Given the description of an element on the screen output the (x, y) to click on. 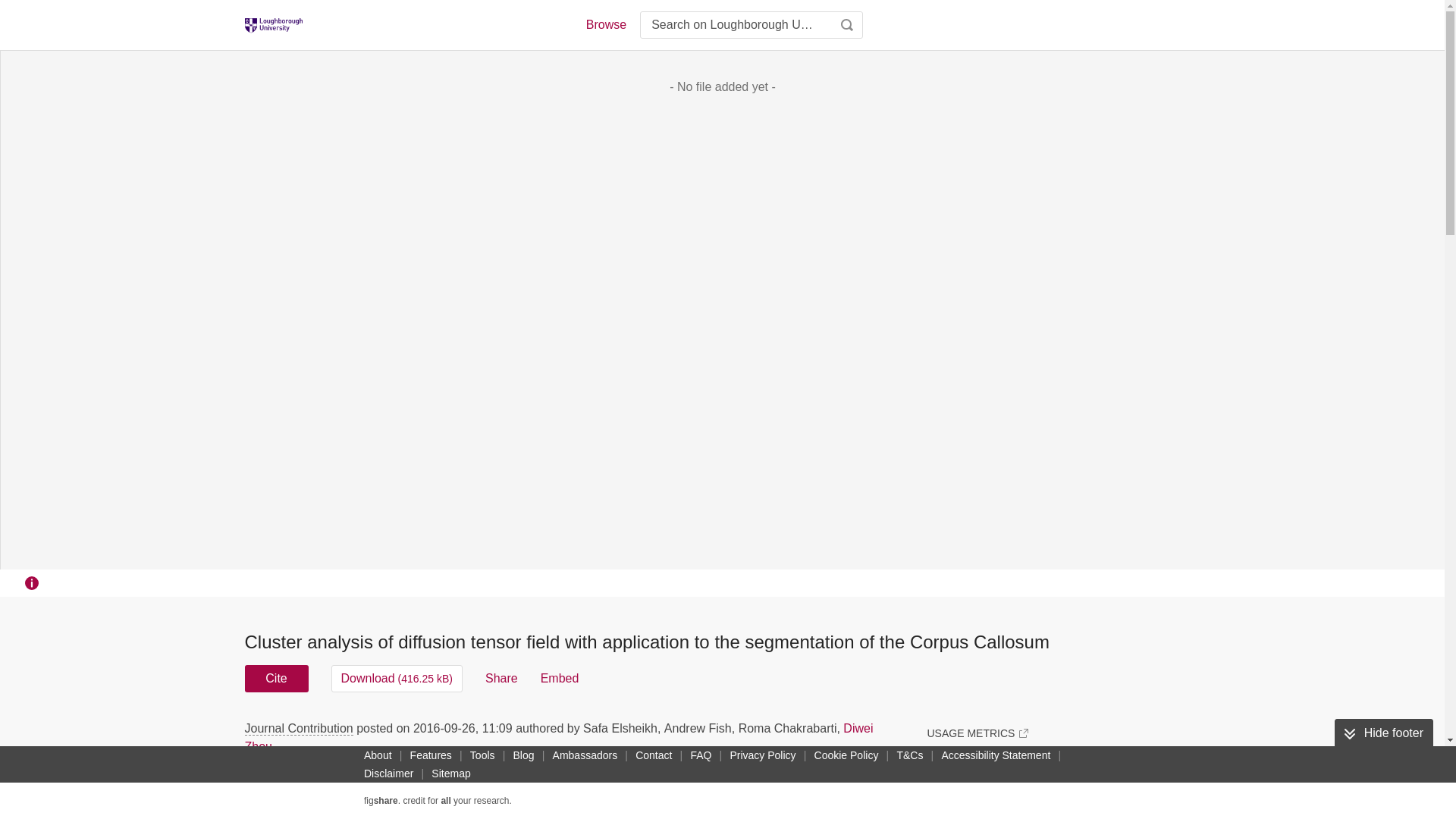
Browse (605, 24)
FAQ (700, 755)
Features (431, 755)
Tools (482, 755)
Diwei Zhou (558, 736)
Share (501, 678)
Hide footer (1383, 733)
Blog (523, 755)
Embed (559, 678)
Contact (653, 755)
Ambassadors (585, 755)
About (377, 755)
Cite (275, 678)
USAGE METRICS (976, 732)
